Given the description of an element on the screen output the (x, y) to click on. 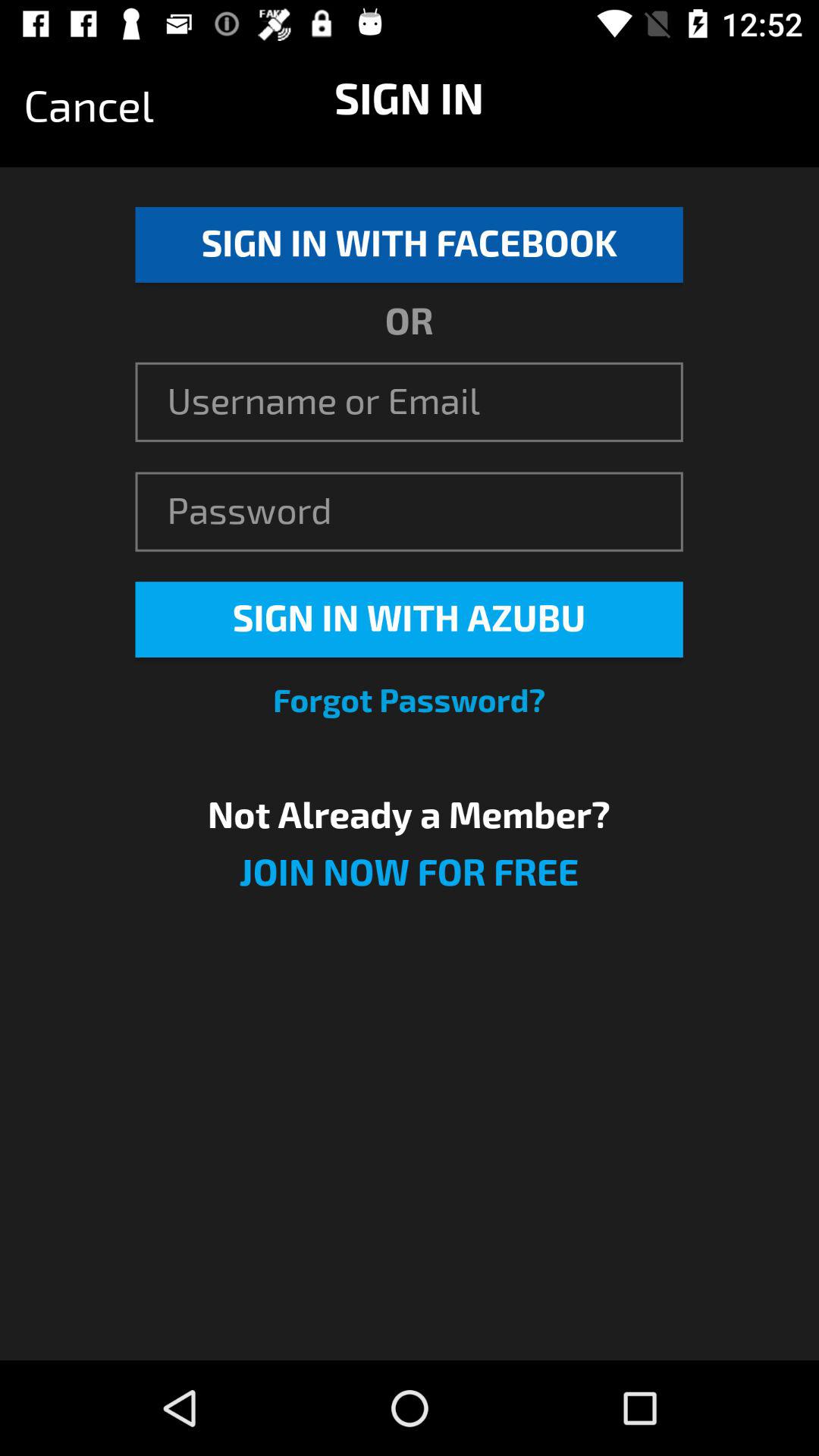
select the join now for item (408, 882)
